Given the description of an element on the screen output the (x, y) to click on. 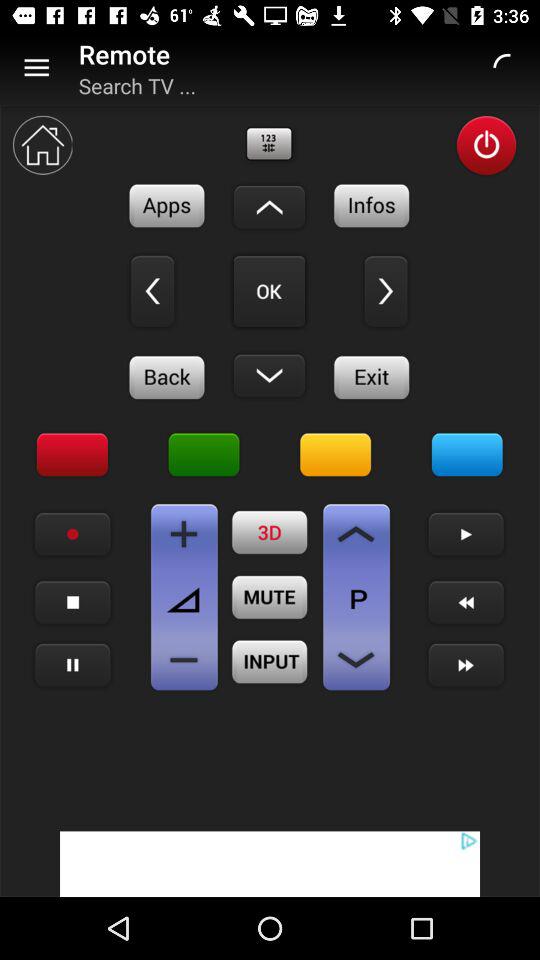
right directional movement button (386, 291)
